Given the description of an element on the screen output the (x, y) to click on. 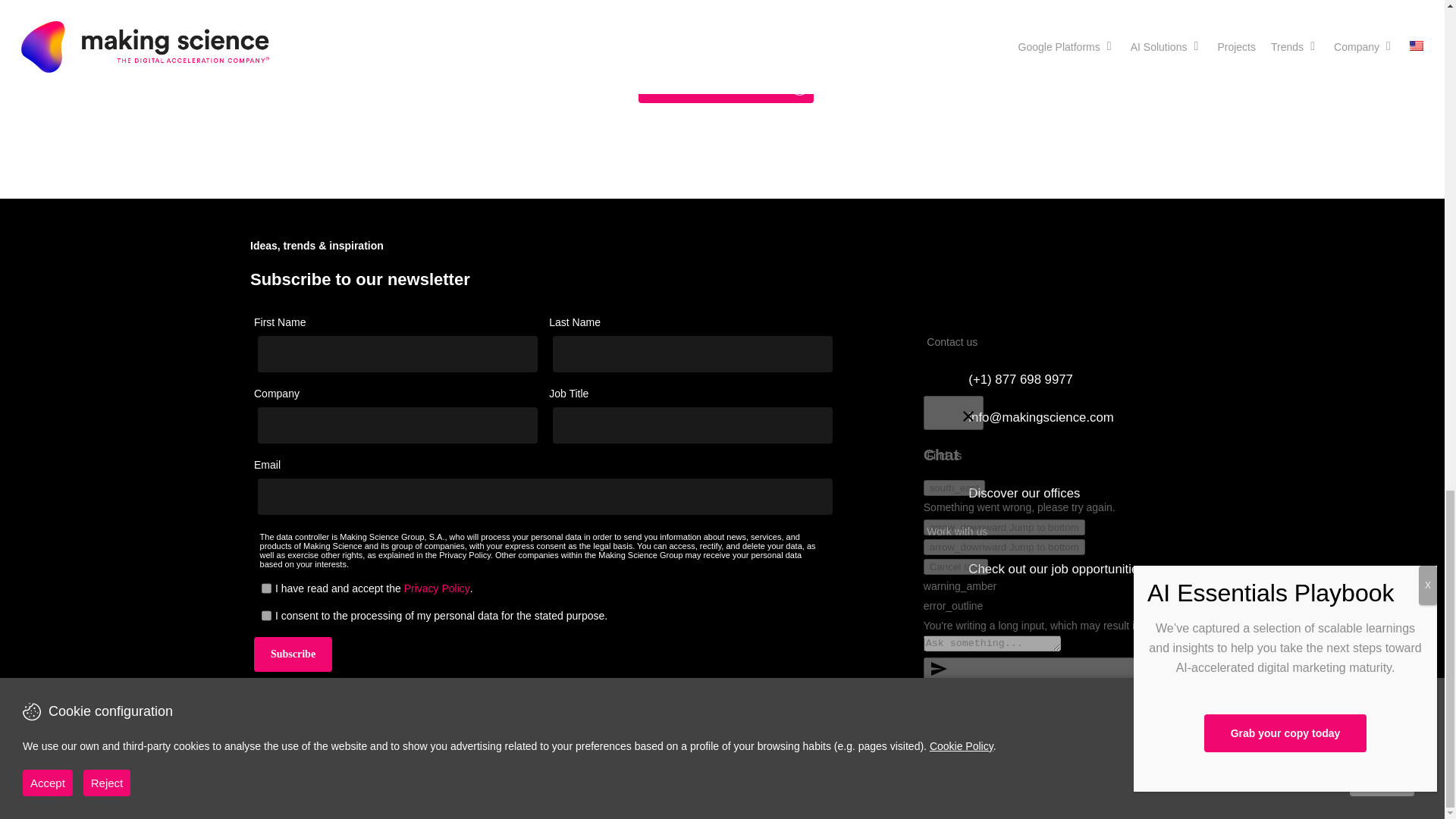
Check out our job opportunities (1056, 569)
Get in touch to learn more (725, 85)
fitnessdigital (413, 8)
Discover our offices (1024, 493)
Subscribe (292, 653)
Subscribe (292, 653)
Privacy Policy (437, 588)
